Given the description of an element on the screen output the (x, y) to click on. 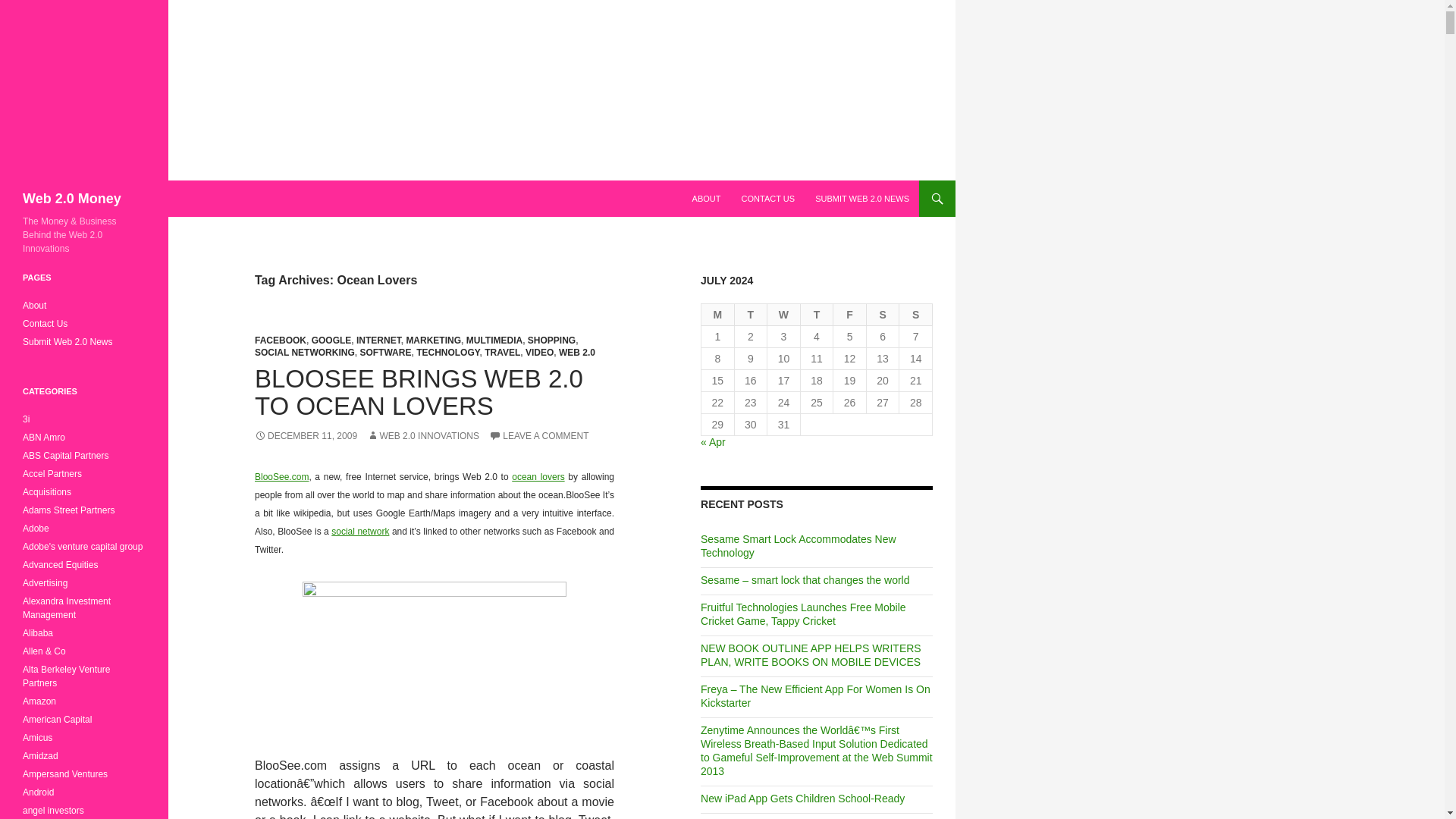
WEB 2.0 INNOVATIONS (422, 435)
SOFTWARE (384, 352)
Friday (849, 314)
Wednesday (783, 314)
DECEMBER 11, 2009 (305, 435)
TRAVEL (501, 352)
MULTIMEDIA (493, 339)
BLOOSEE BRINGS WEB 2.0 TO OCEAN LOVERS (418, 392)
MARKETING (433, 339)
GOOGLE (331, 339)
